Given the description of an element on the screen output the (x, y) to click on. 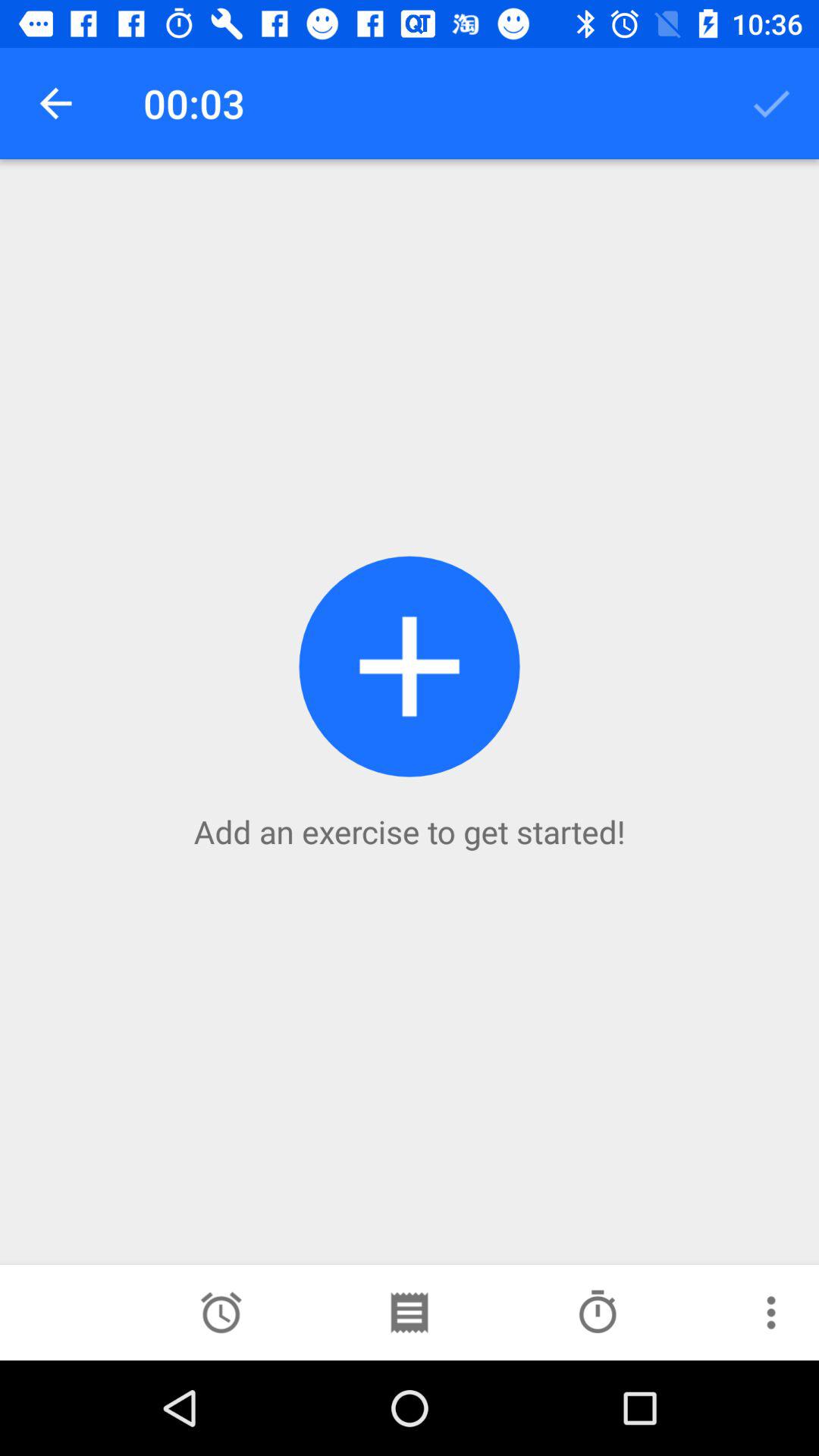
find more options (771, 1312)
